Given the description of an element on the screen output the (x, y) to click on. 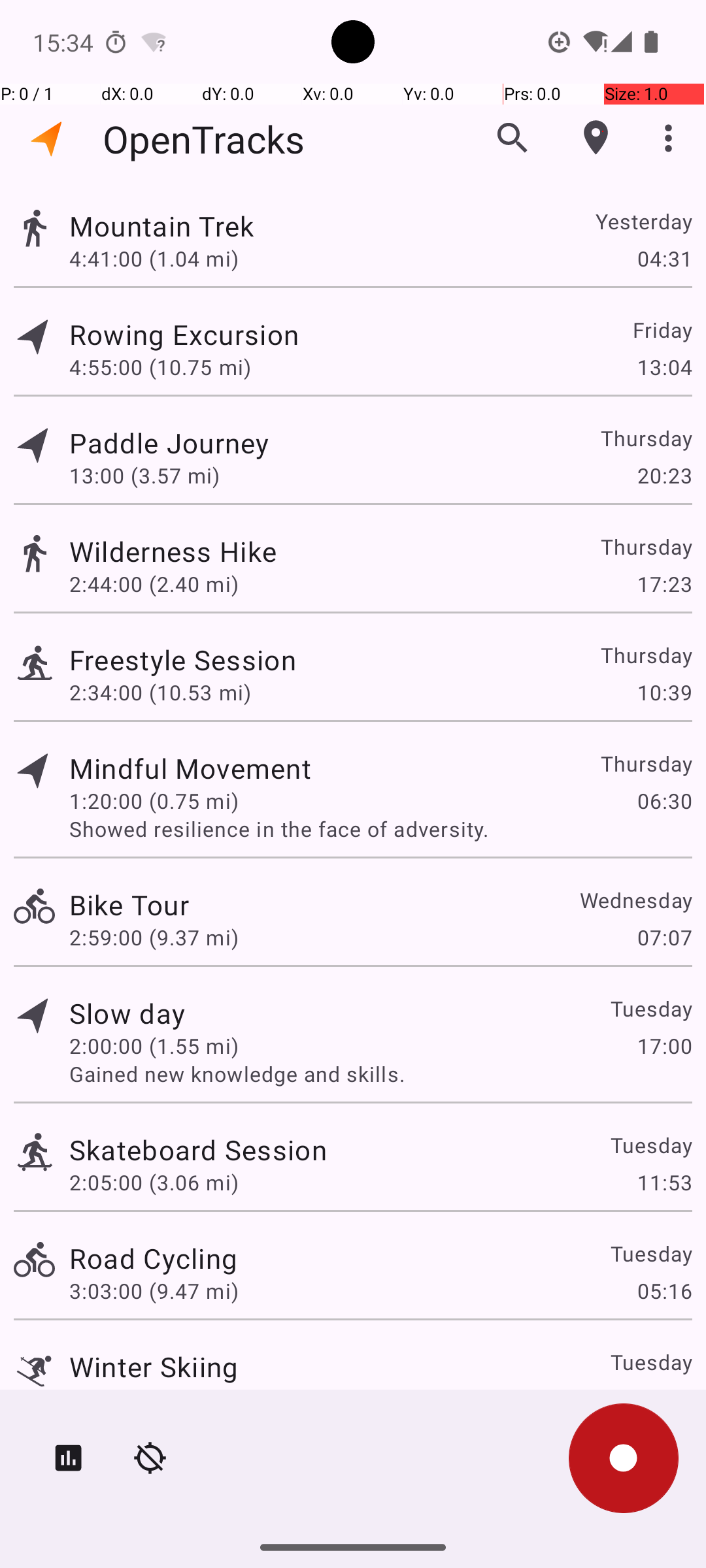
Mountain Trek Element type: android.widget.TextView (161, 225)
4:41:00 (1.04 mi) Element type: android.widget.TextView (153, 258)
04:31 Element type: android.widget.TextView (664, 258)
Rowing Excursion Element type: android.widget.TextView (183, 333)
4:55:00 (10.75 mi) Element type: android.widget.TextView (159, 366)
13:04 Element type: android.widget.TextView (664, 366)
13:00 (3.57 mi) Element type: android.widget.TextView (144, 475)
20:23 Element type: android.widget.TextView (664, 475)
Wilderness Hike Element type: android.widget.TextView (172, 550)
2:44:00 (2.40 mi) Element type: android.widget.TextView (153, 583)
17:23 Element type: android.widget.TextView (664, 583)
Freestyle Session Element type: android.widget.TextView (182, 659)
2:34:00 (10.53 mi) Element type: android.widget.TextView (159, 692)
10:39 Element type: android.widget.TextView (664, 692)
Mindful Movement Element type: android.widget.TextView (189, 767)
1:20:00 (0.75 mi) Element type: android.widget.TextView (153, 800)
06:30 Element type: android.widget.TextView (664, 800)
Showed resilience in the face of adversity. Element type: android.widget.TextView (380, 828)
Bike Tour Element type: android.widget.TextView (128, 904)
2:59:00 (9.37 mi) Element type: android.widget.TextView (153, 937)
07:07 Element type: android.widget.TextView (664, 937)
Slow day Element type: android.widget.TextView (126, 1012)
2:00:00 (1.55 mi) Element type: android.widget.TextView (153, 1045)
Gained new knowledge and skills. Element type: android.widget.TextView (380, 1073)
Skateboard Session Element type: android.widget.TextView (197, 1149)
2:05:00 (3.06 mi) Element type: android.widget.TextView (153, 1182)
11:53 Element type: android.widget.TextView (664, 1182)
3:03:00 (9.47 mi) Element type: android.widget.TextView (153, 1290)
05:16 Element type: android.widget.TextView (664, 1290)
Winter Skiing Element type: android.widget.TextView (153, 1366)
1:12:00 (9.82 mi) Element type: android.widget.TextView (153, 1399)
04:25 Element type: android.widget.TextView (664, 1399)
